Given the description of an element on the screen output the (x, y) to click on. 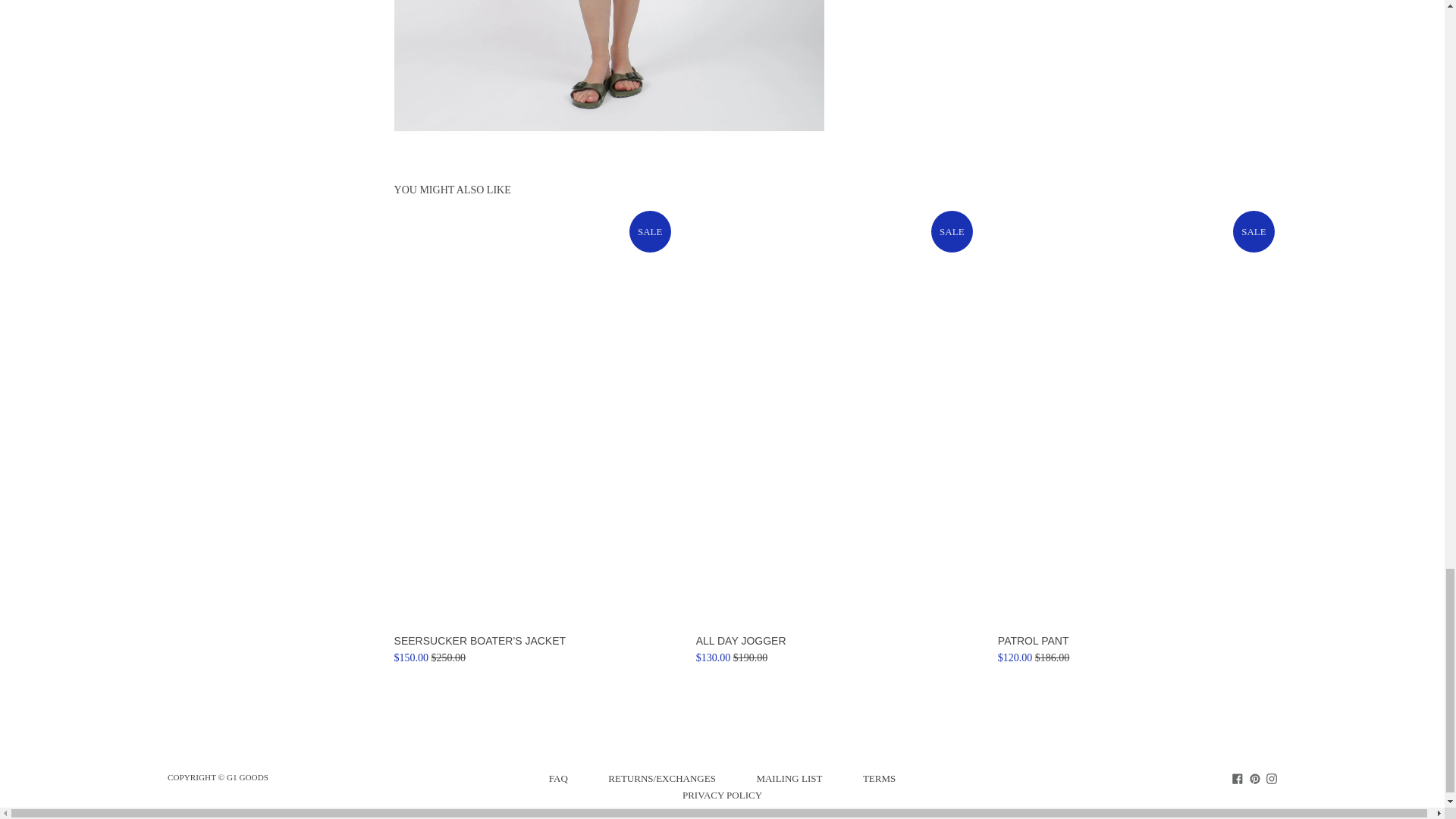
G1 Goods on Pinterest (1254, 777)
G1 Goods on Instagram (1271, 777)
G1 Goods on Facebook (1237, 777)
